Given the description of an element on the screen output the (x, y) to click on. 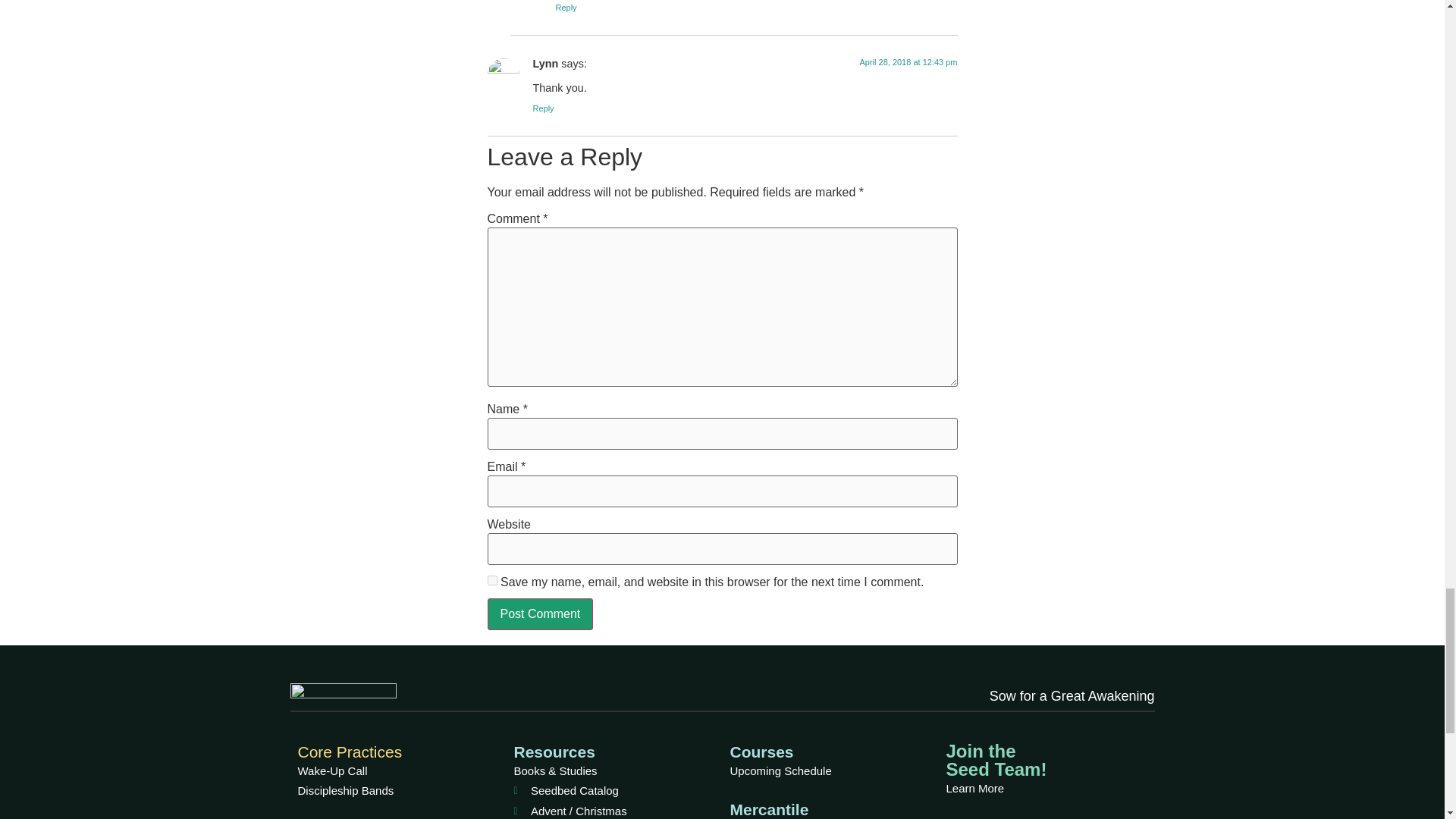
Post Comment (539, 613)
yes (491, 580)
